Given the description of an element on the screen output the (x, y) to click on. 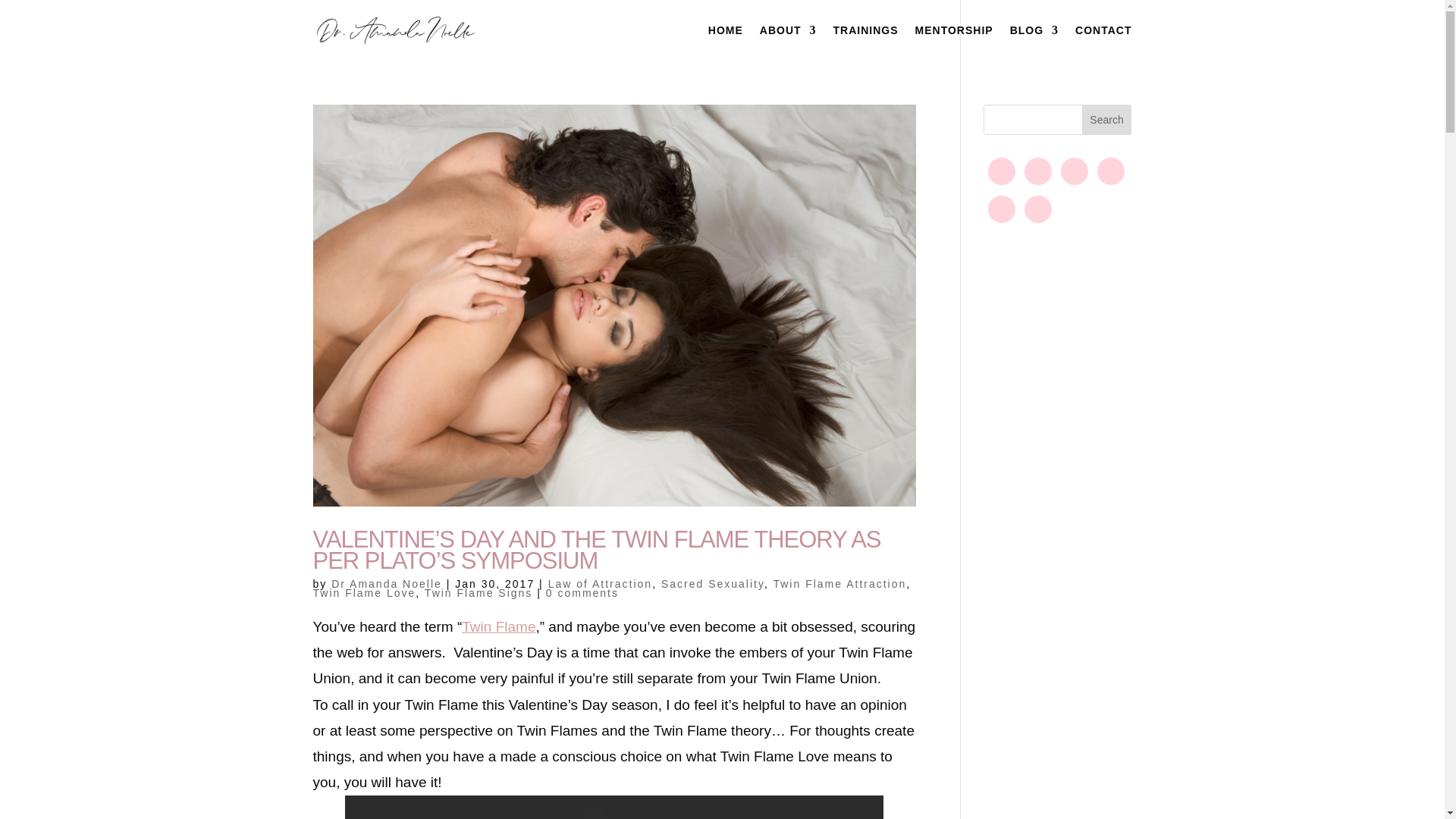
MENTORSHIP (953, 42)
Twin Flame Attraction (839, 583)
ABOUT (788, 42)
Dr Amanda Noelle (386, 583)
Twin Flame Love (363, 592)
HOME (724, 42)
Twin Flame Signs (478, 592)
Posts by Dr Amanda Noelle (386, 583)
Search (1106, 119)
0 comments (582, 592)
Law of Attraction (600, 583)
CONTACT (1103, 42)
Search (1106, 119)
BLOG (1034, 42)
Twin Flame (498, 626)
